Given the description of an element on the screen output the (x, y) to click on. 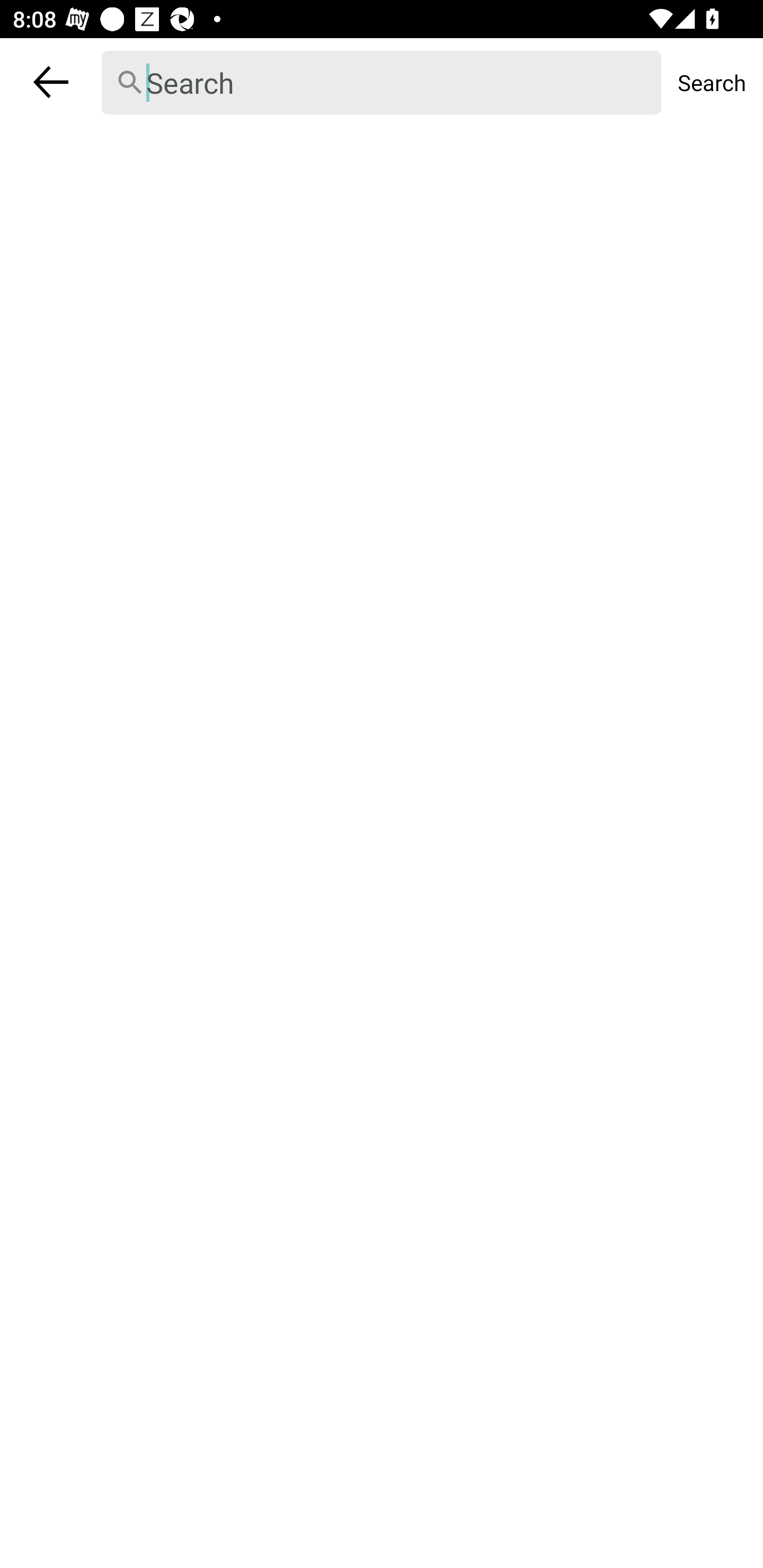
close (50, 81)
search Search (381, 82)
Search (381, 82)
Search (711, 82)
